Given the description of an element on the screen output the (x, y) to click on. 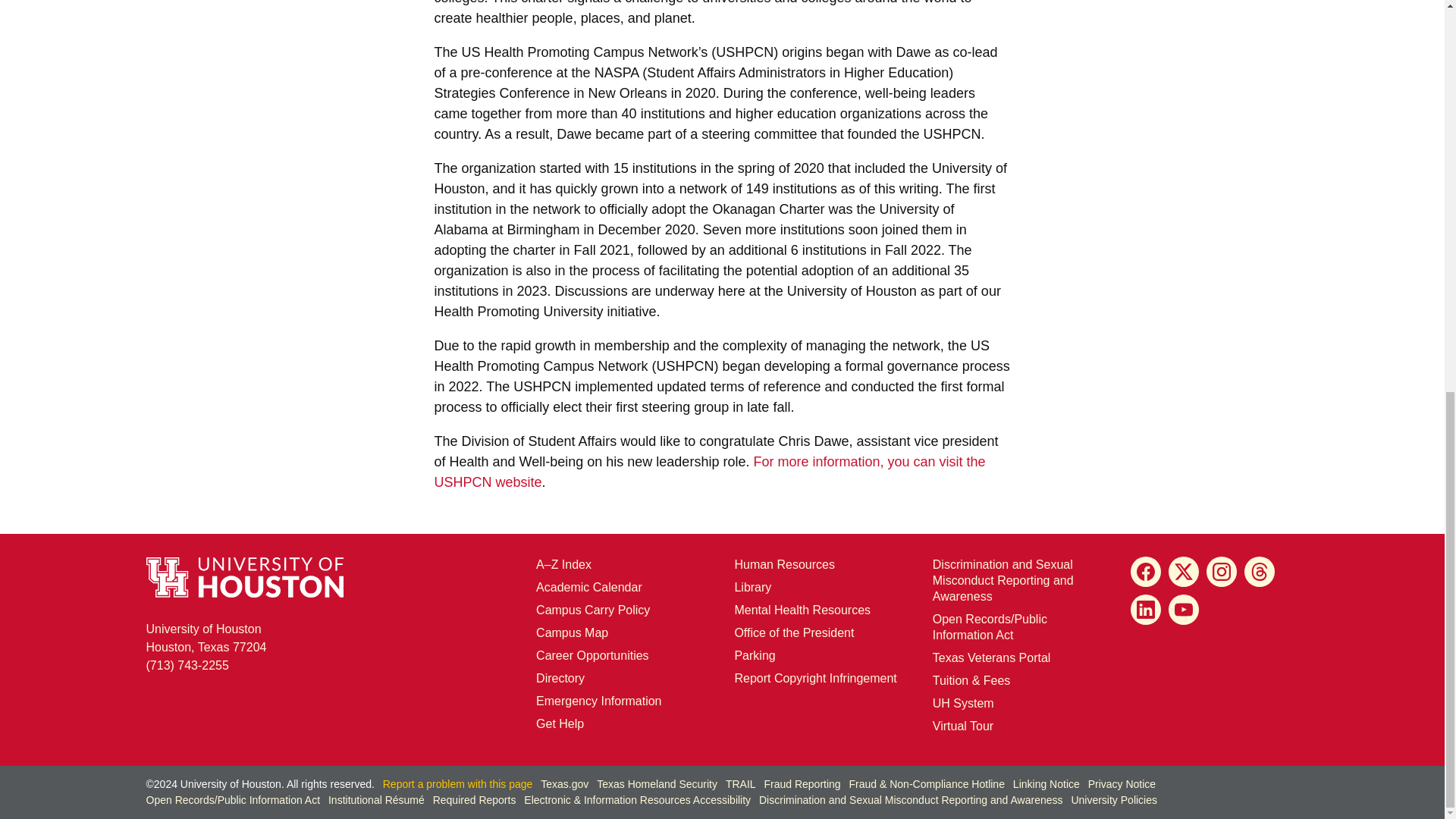
LinkedIn (1145, 609)
Texas Veterans Portal (992, 657)
Mental Health Resources (801, 609)
YouTube (1183, 609)
Discrimination and Sexual Misconduct Reporting and Awareness (1003, 579)
Office of the President (793, 632)
Facebook (205, 637)
Human Resources (1145, 571)
Campus Map (783, 563)
Instagram (571, 632)
Report Copyright Infringement (1221, 571)
Parking (814, 677)
